Given the description of an element on the screen output the (x, y) to click on. 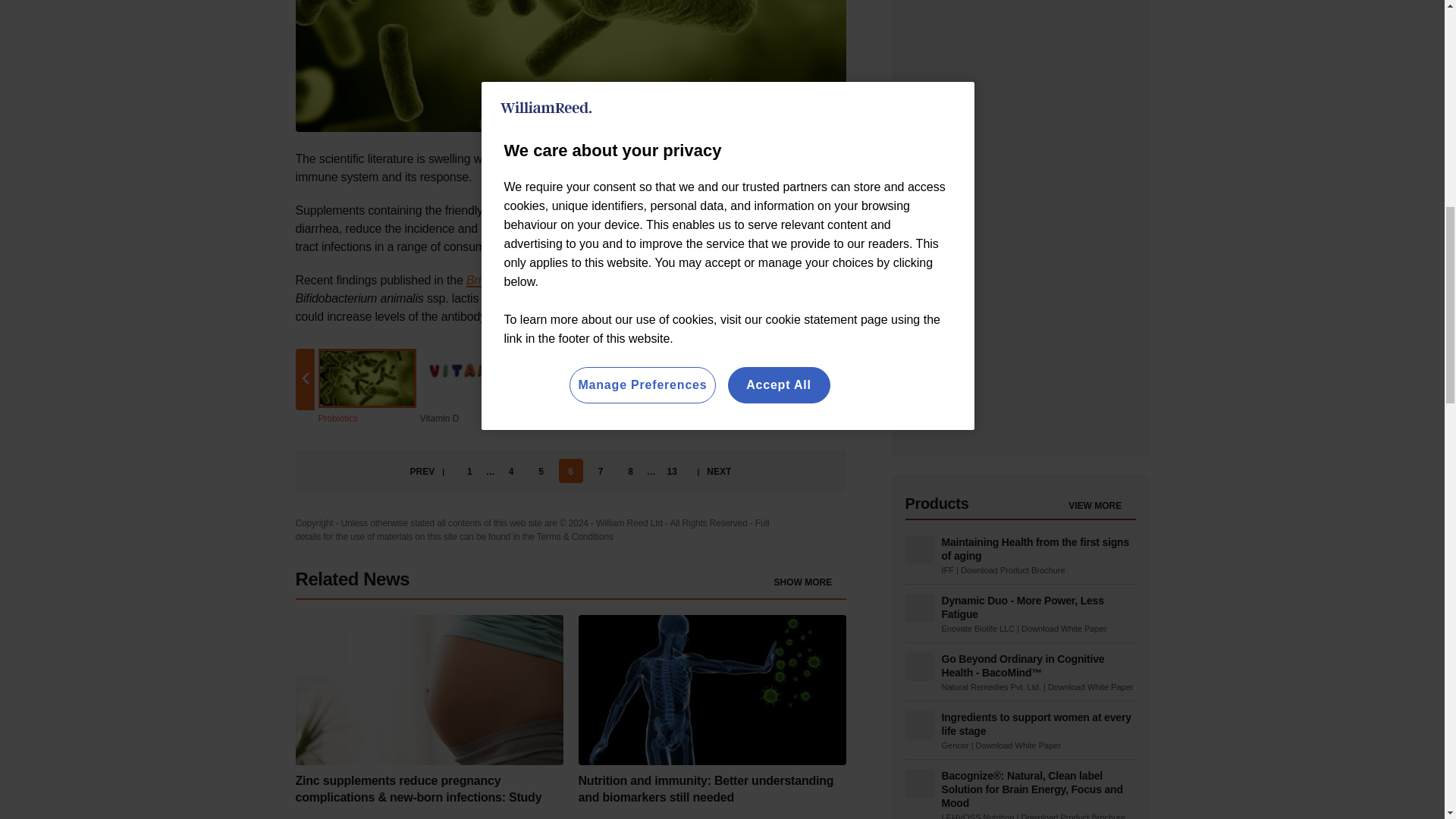
Probiotics (570, 65)
